Given the description of an element on the screen output the (x, y) to click on. 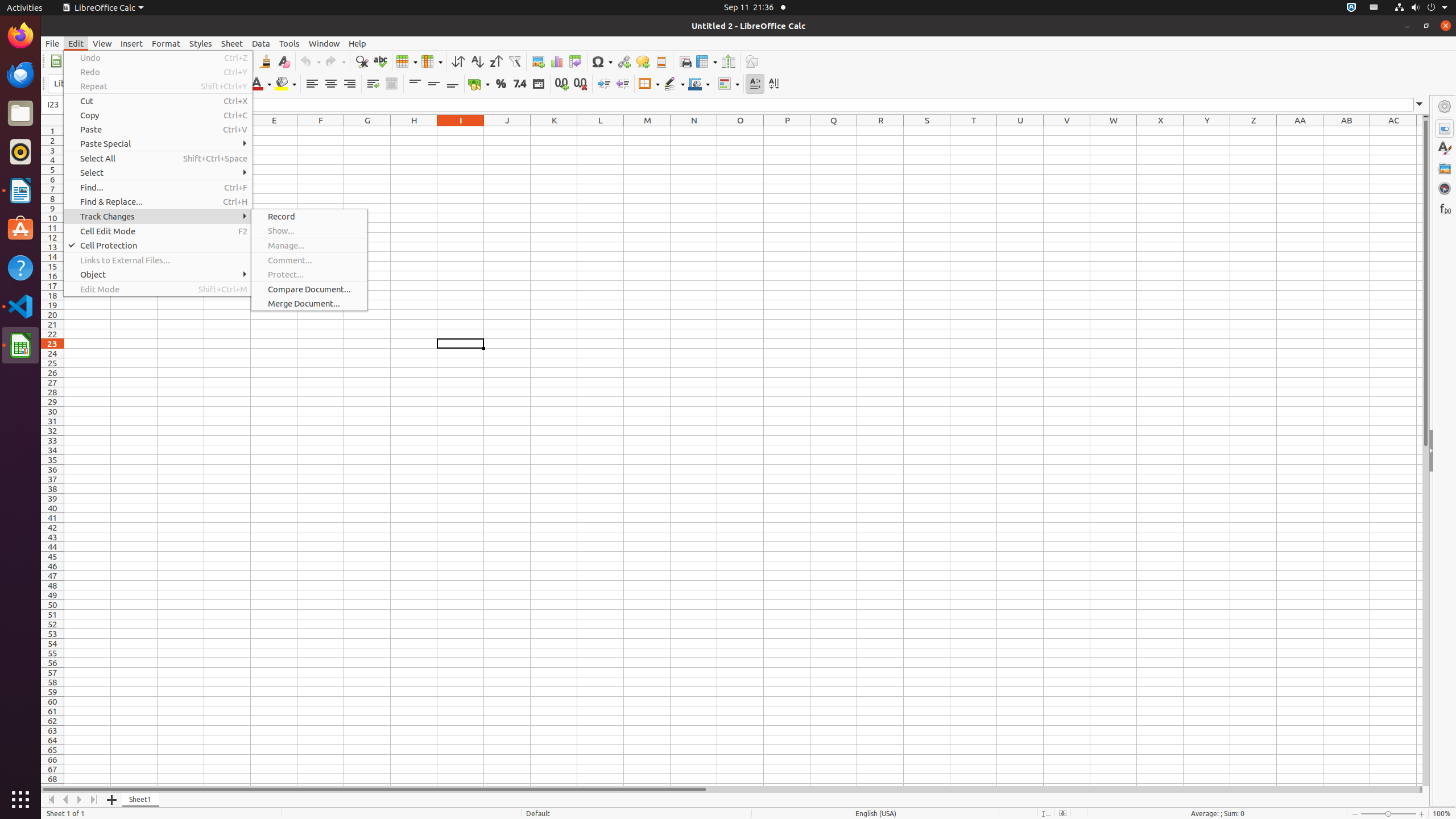
Paste Element type: menu-item (157, 129)
Sort Ascending Element type: push-button (476, 61)
Add Decimal Place Element type: push-button (561, 83)
Undo Element type: menu-item (157, 57)
Edit Mode Element type: menu-item (157, 289)
